Given the description of an element on the screen output the (x, y) to click on. 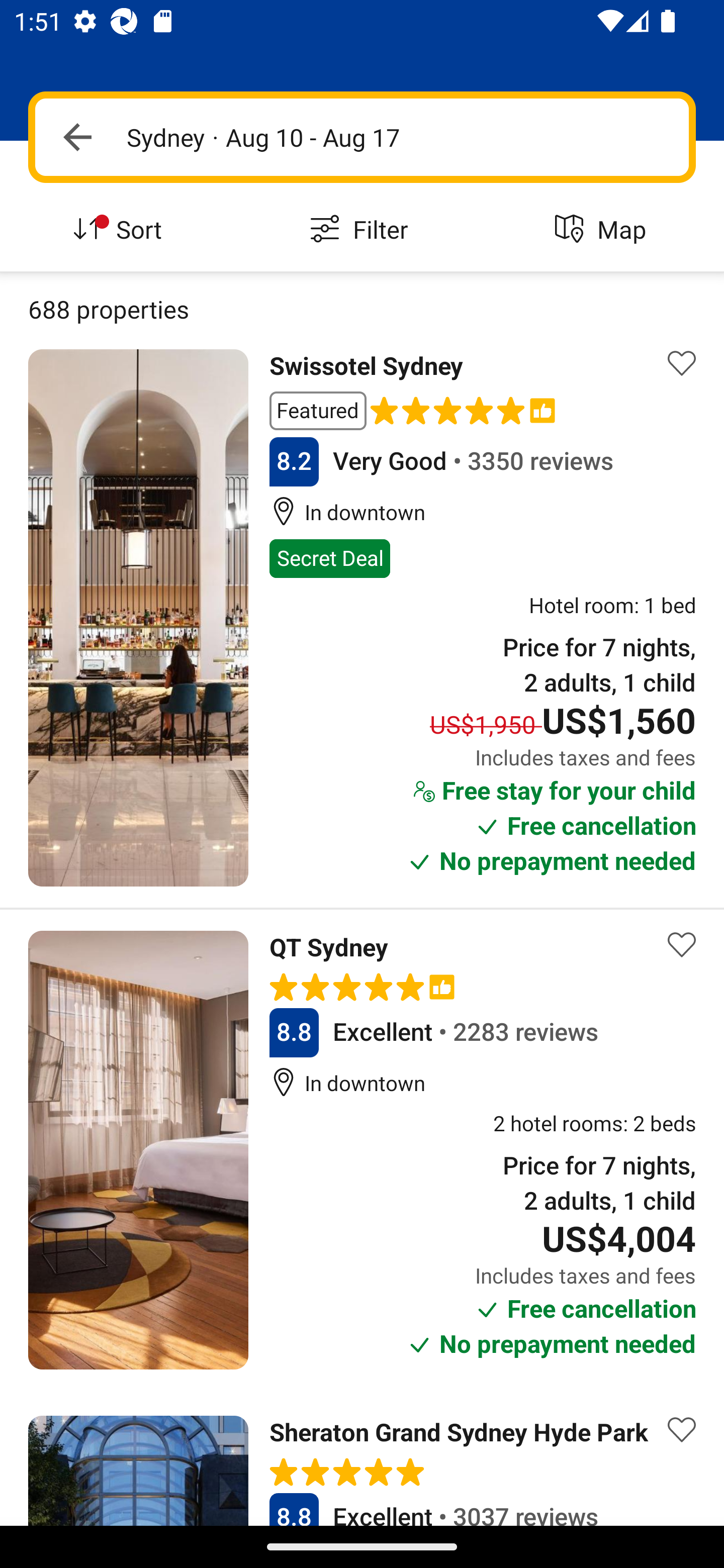
Navigate up Sydney · Aug 10 - Aug 17 (362, 136)
Navigate up (77, 136)
Sort (120, 230)
Filter (361, 230)
Map (603, 230)
Save property to list (681, 363)
Save property to list (681, 944)
Save property to list (681, 1429)
